Given the description of an element on the screen output the (x, y) to click on. 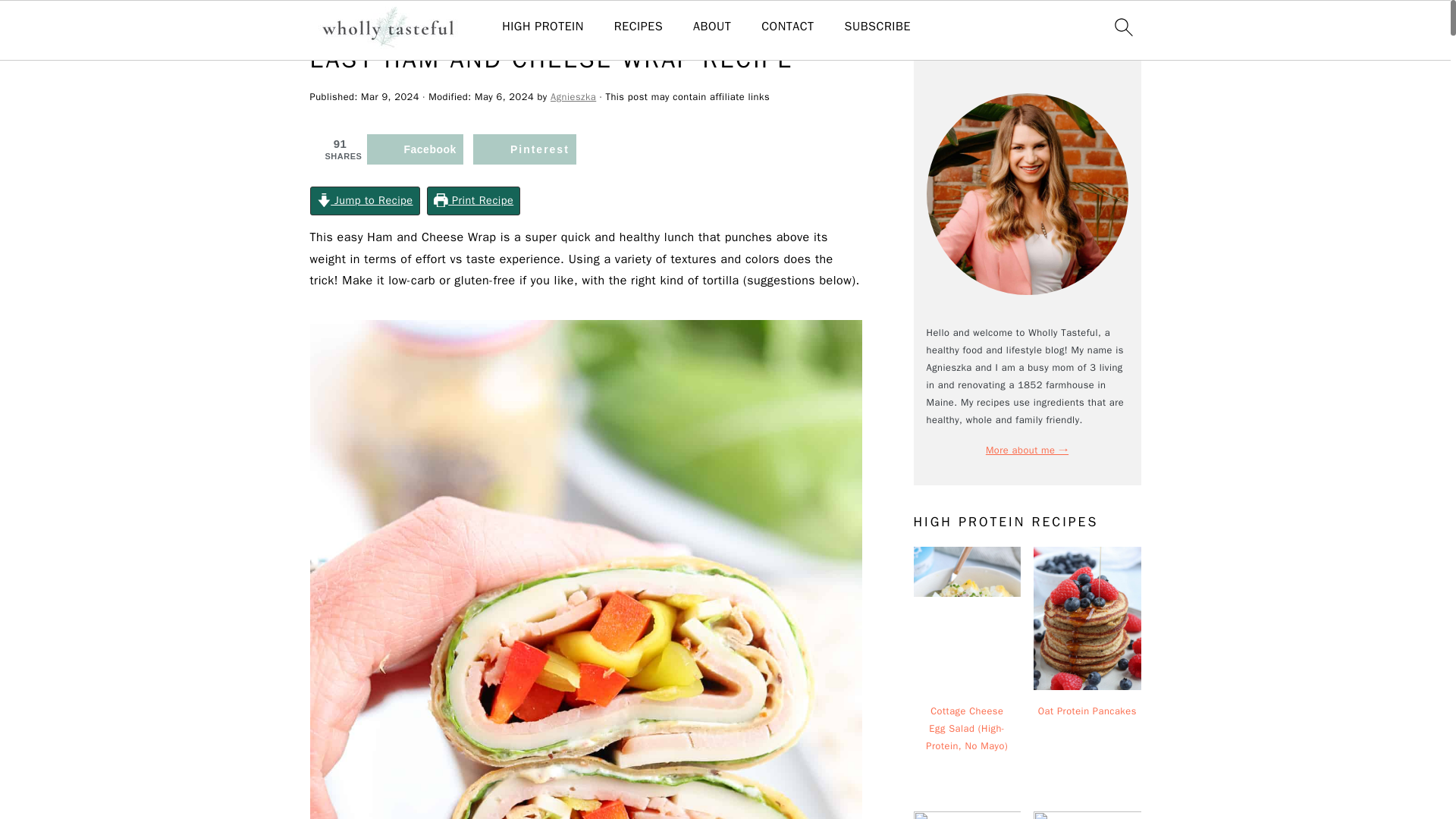
Lunch (360, 23)
RECIPES (638, 26)
ABOUT (711, 26)
SUBSCRIBE (877, 26)
Home (322, 23)
CONTACT (787, 26)
Share on Facebook (414, 149)
Agnieszka (572, 96)
Save to Pinterest (524, 149)
search icon (1122, 26)
HIGH PROTEIN (542, 26)
